Given the description of an element on the screen output the (x, y) to click on. 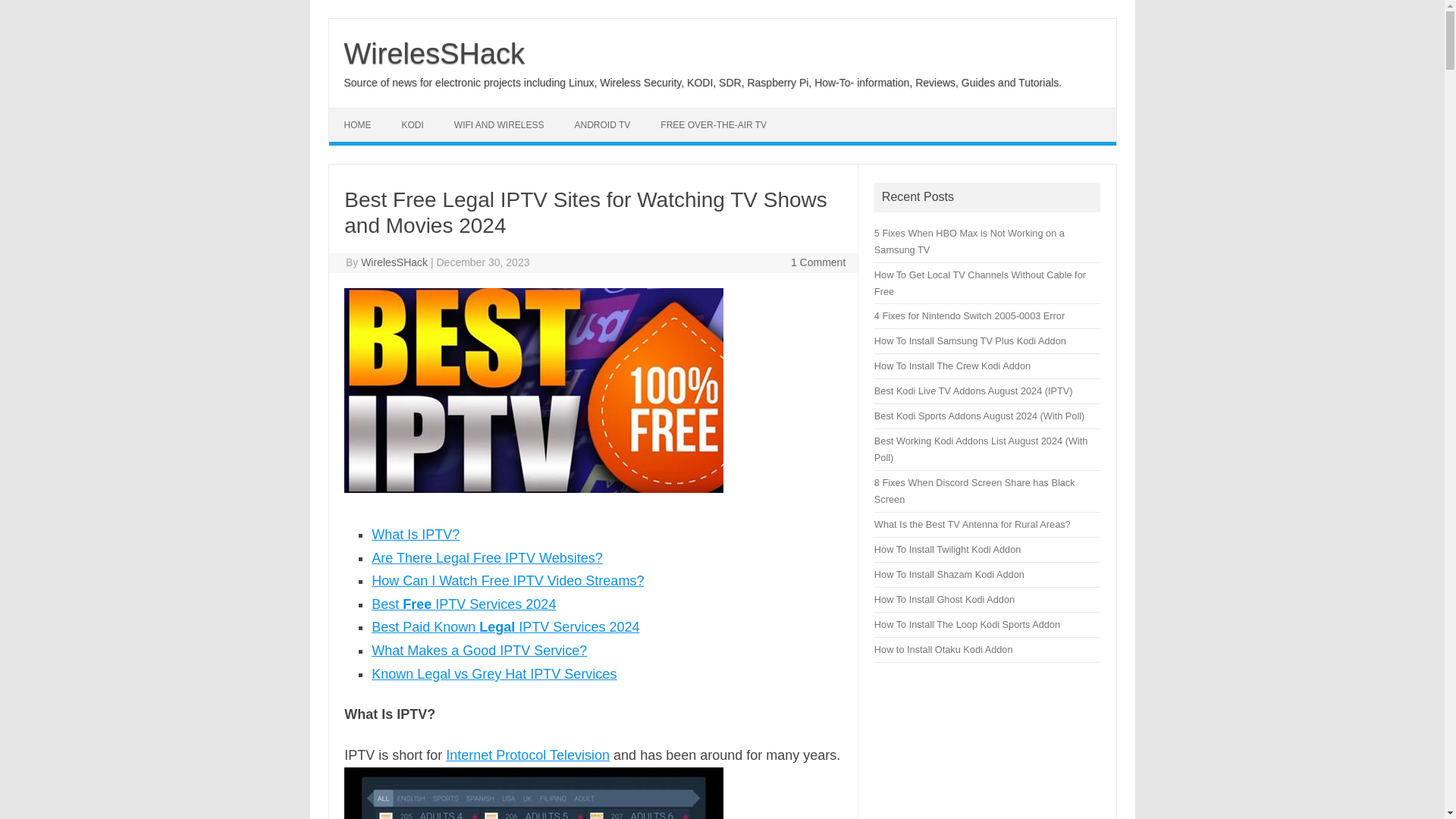
How Can I Watch Free IPTV Video Streams? (507, 580)
KODI (413, 124)
WIFI AND WIRELESS (499, 124)
Posts by WirelesSHack (394, 262)
Best Paid Known Legal IPTV Services 2024 (505, 626)
WirelesSHack (434, 53)
What Is IPTV? (415, 534)
Are There Legal Free IPTV Websites? (486, 557)
ANDROID TV (602, 124)
